Given the description of an element on the screen output the (x, y) to click on. 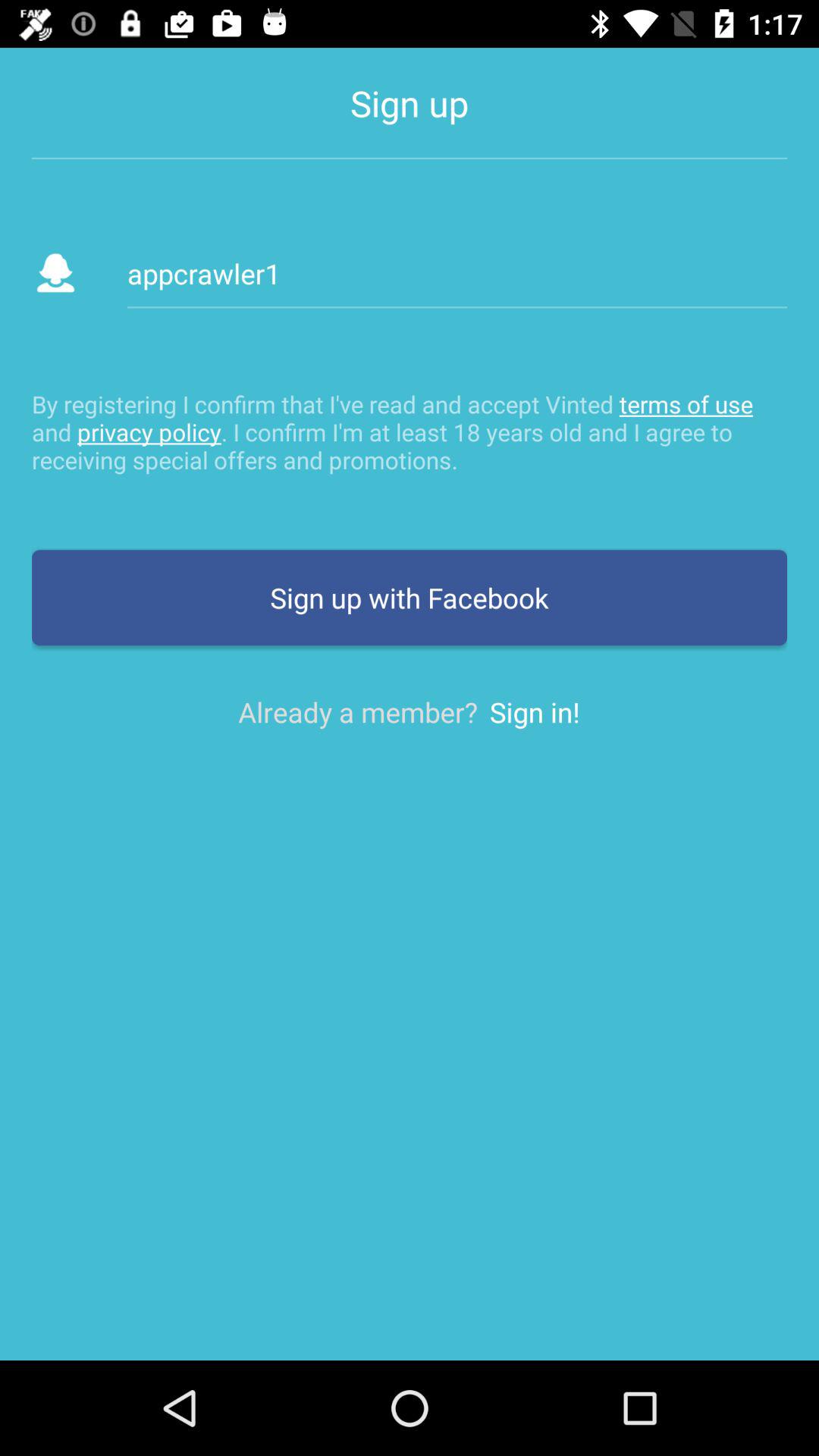
press the item below appcrawler1 (409, 431)
